Given the description of an element on the screen output the (x, y) to click on. 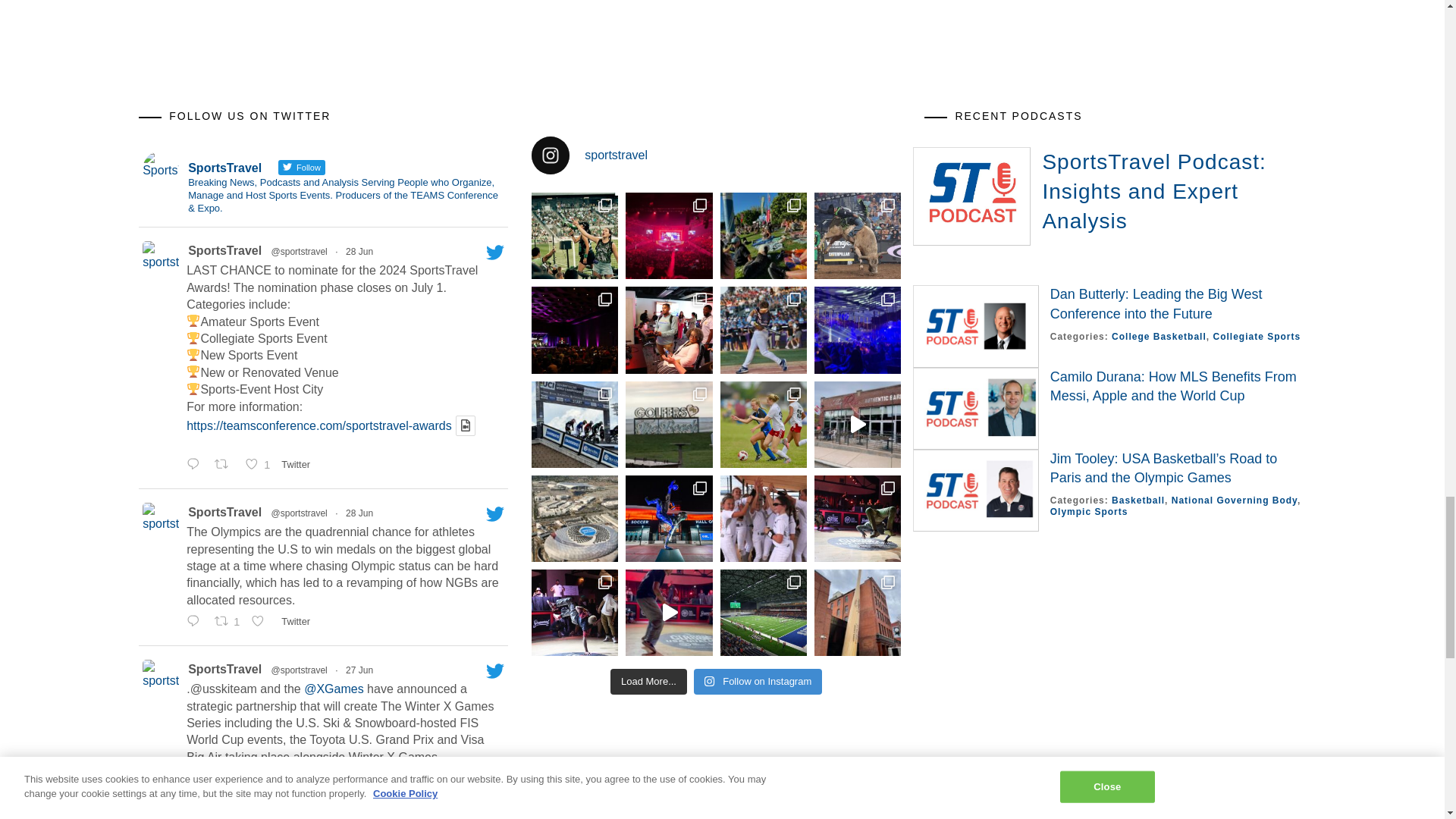
3rd party ad content (1049, 29)
